Given the description of an element on the screen output the (x, y) to click on. 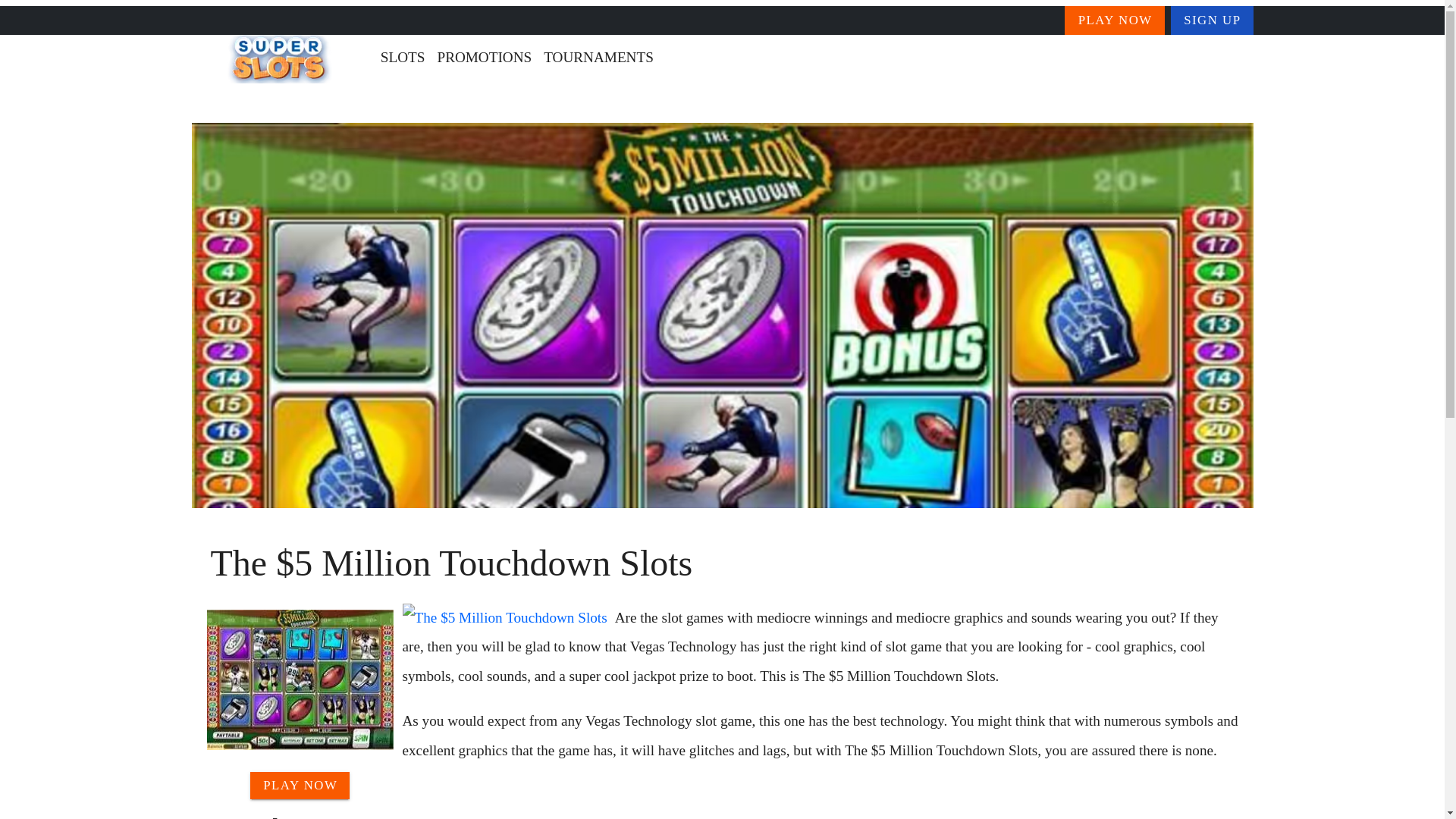
PLAY NOW (1114, 20)
Video (350, 104)
SLOTS (402, 57)
Slots (286, 104)
Home (220, 104)
SIGN UP (1211, 20)
TOURNAMENTS (598, 57)
PROMOTIONS (483, 57)
PLAY NOW (300, 785)
